Given the description of an element on the screen output the (x, y) to click on. 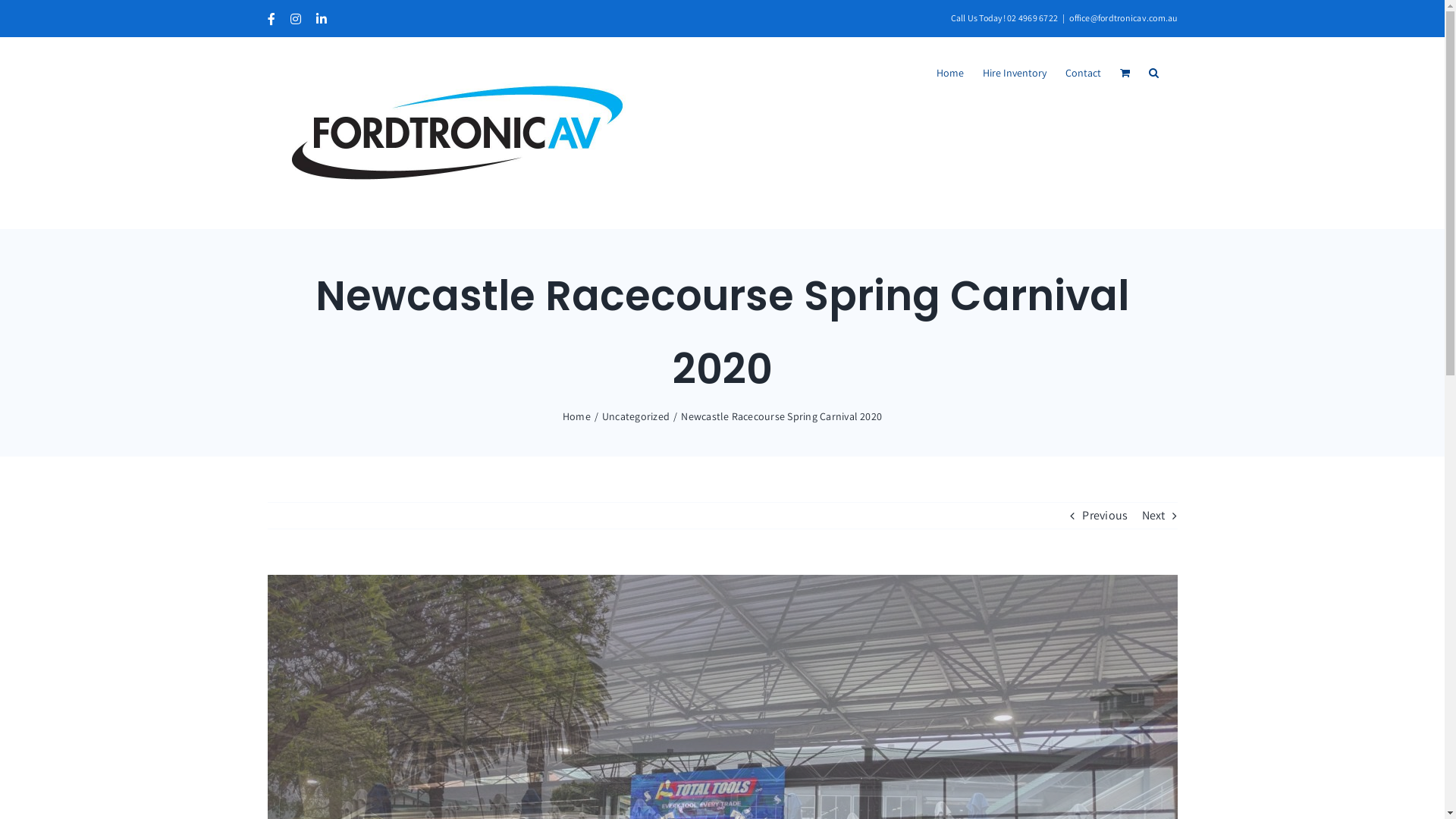
Next Element type: text (1153, 515)
LinkedIn Element type: text (321, 18)
Hire Inventory Element type: text (1014, 72)
office@fordtronicav.com.au Element type: text (1122, 17)
Instagram Element type: text (295, 18)
Home Element type: text (576, 416)
Uncategorized Element type: text (635, 416)
Contact Element type: text (1082, 72)
Facebook Element type: text (270, 18)
Search Element type: hover (1152, 72)
Previous Element type: text (1104, 515)
Home Element type: text (949, 72)
